Given the description of an element on the screen output the (x, y) to click on. 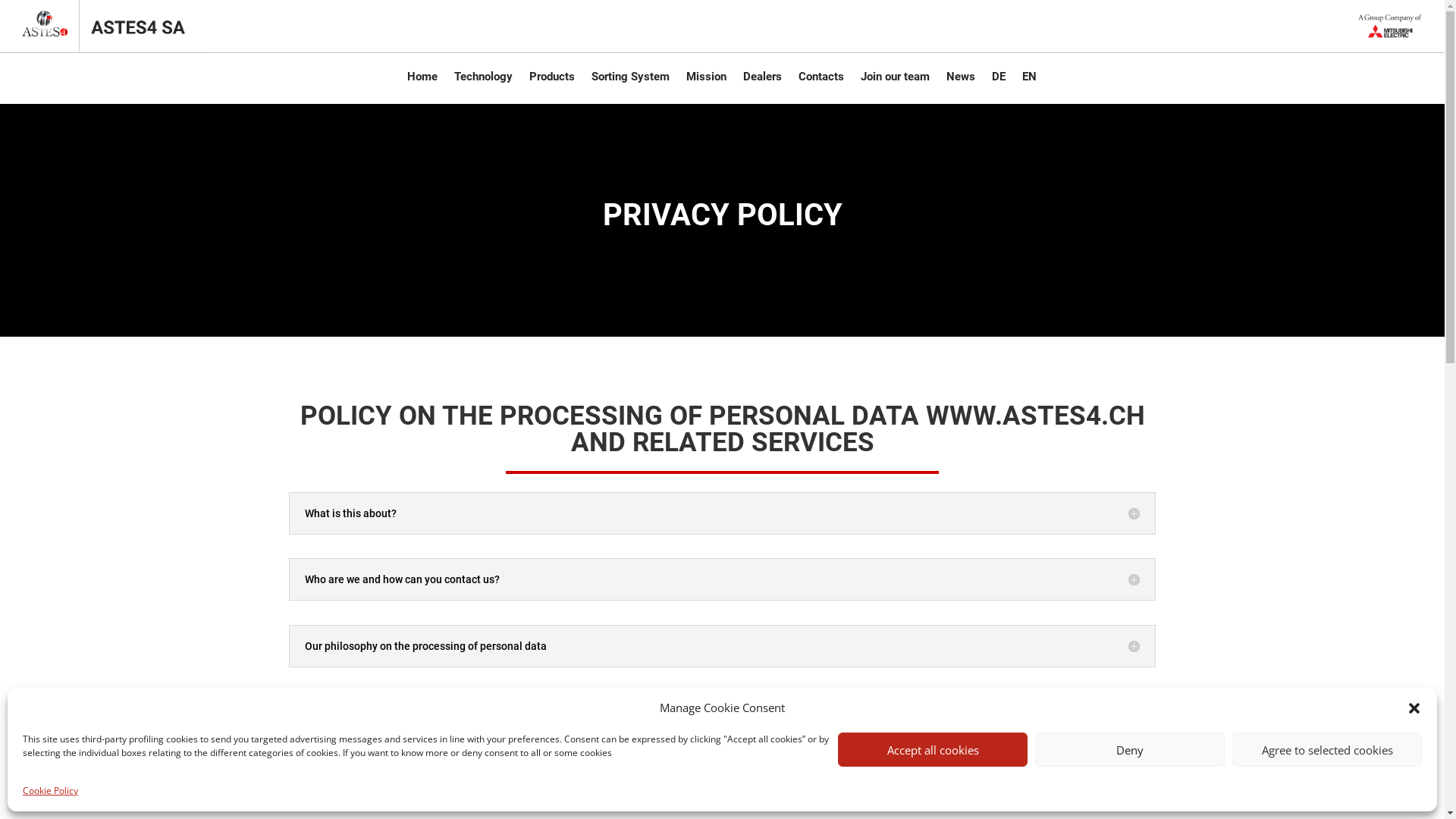
EN Element type: text (1029, 79)
Mission Element type: text (706, 79)
News Element type: text (960, 79)
Deny Element type: text (1129, 749)
Home Element type: text (422, 79)
Mit Logo 22 Gen@2x Element type: hover (1367, 25)
Accept all cookies Element type: text (932, 749)
Cookie Policy Element type: text (50, 790)
AS4_logo Element type: hover (102, 26)
Technology Element type: text (483, 79)
DE Element type: text (998, 79)
Dealers Element type: text (762, 79)
Products Element type: text (551, 79)
Agree to selected cookies Element type: text (1326, 749)
Sorting System Element type: text (630, 79)
Join our team Element type: text (894, 79)
Contacts Element type: text (821, 79)
